Given the description of an element on the screen output the (x, y) to click on. 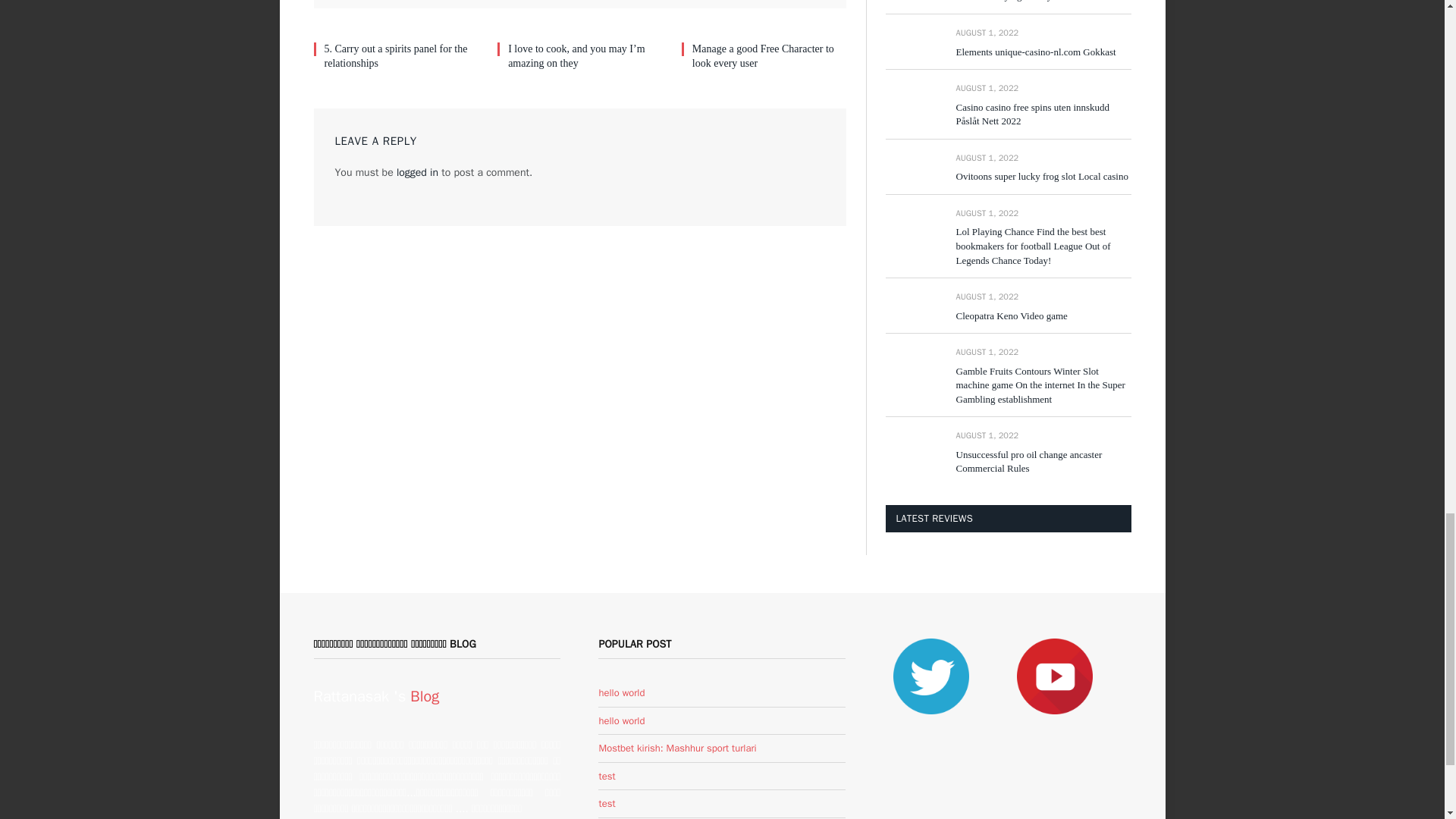
5. Carry out a spirits panel for the relationships (401, 55)
Manage a good Free Character to look every user (769, 55)
logged in (417, 172)
